Given the description of an element on the screen output the (x, y) to click on. 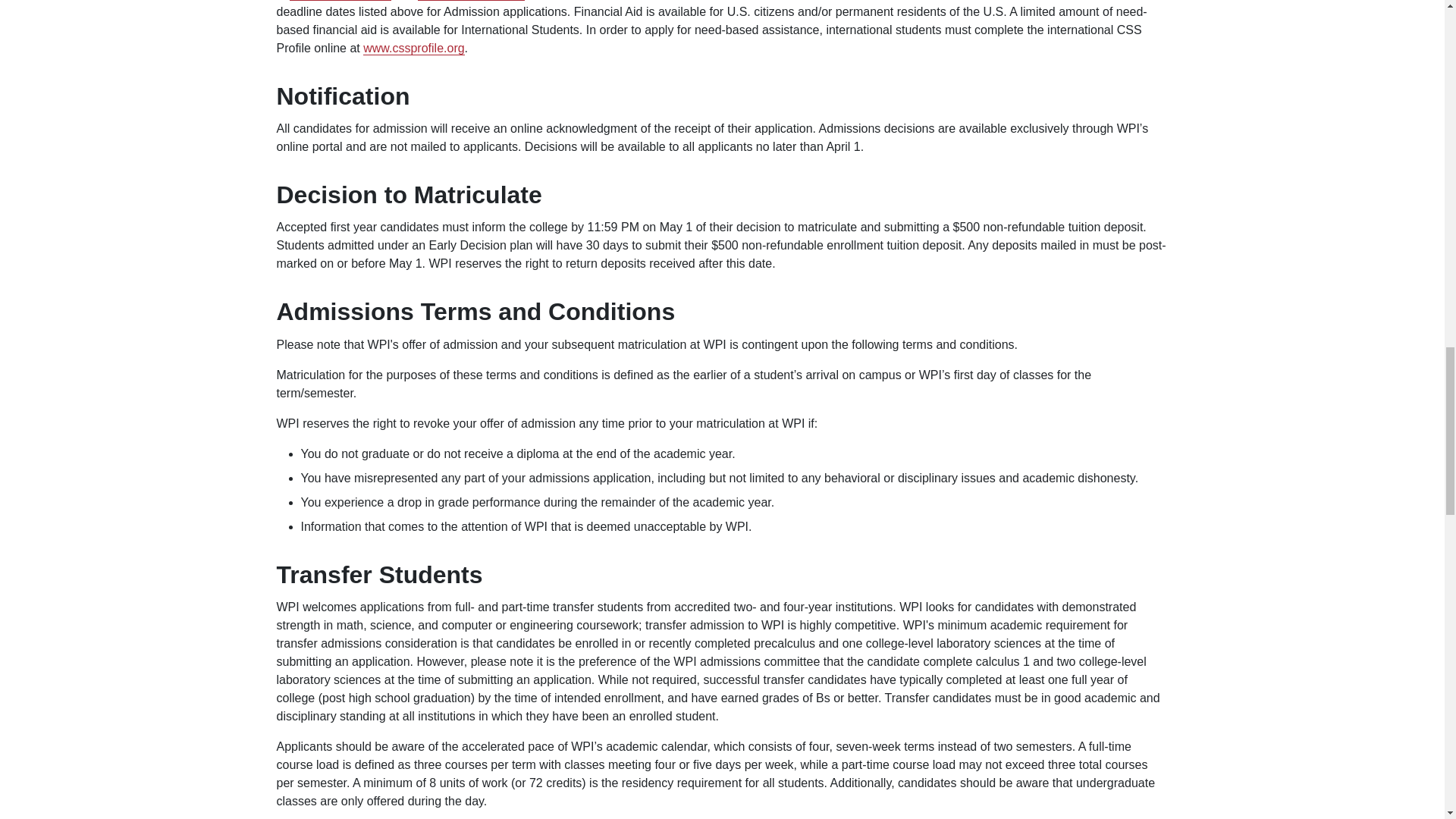
www.cssprofile.org (413, 48)
